Given the description of an element on the screen output the (x, y) to click on. 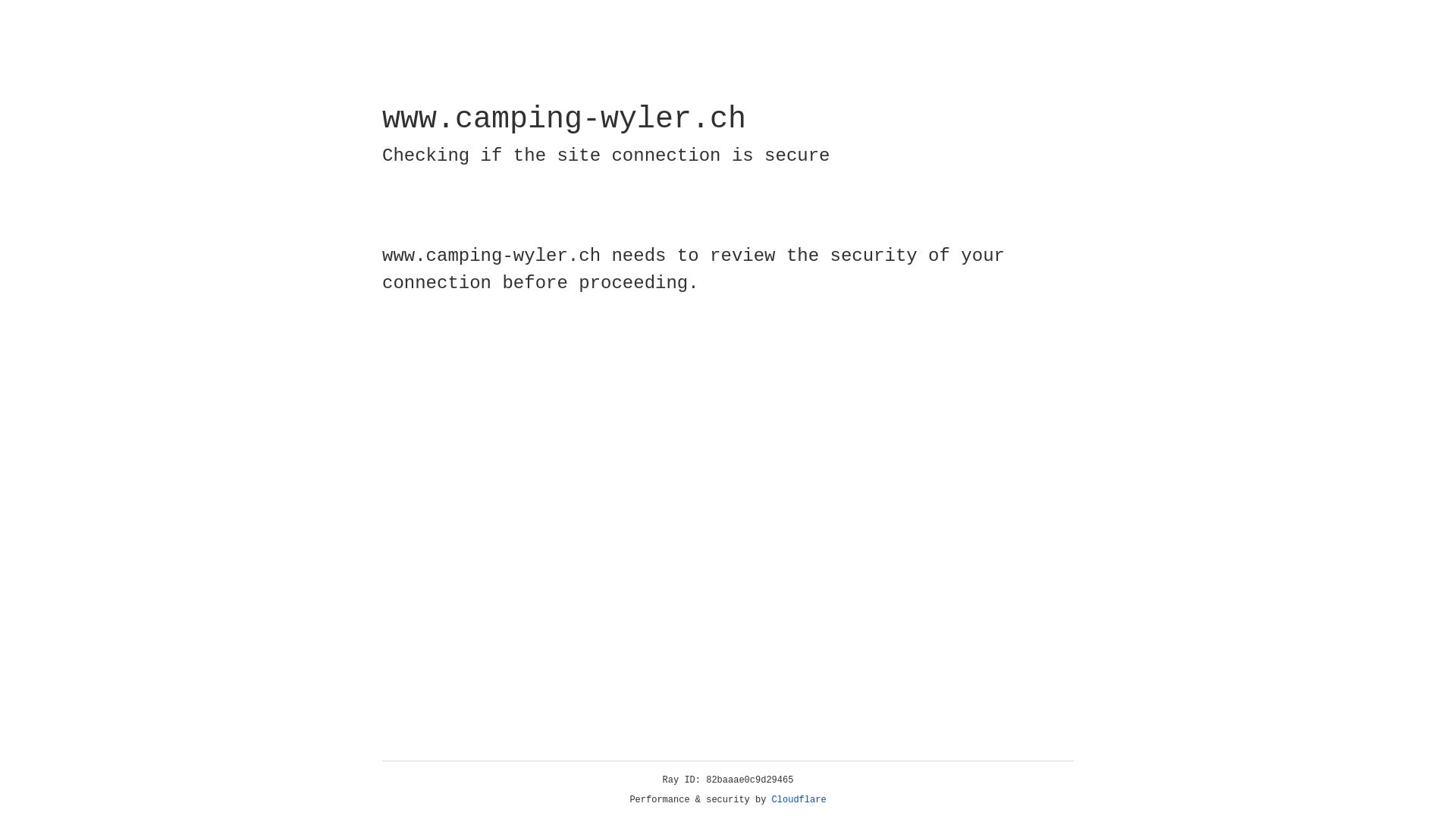
Cloudflare Element type: text (798, 799)
